Given the description of an element on the screen output the (x, y) to click on. 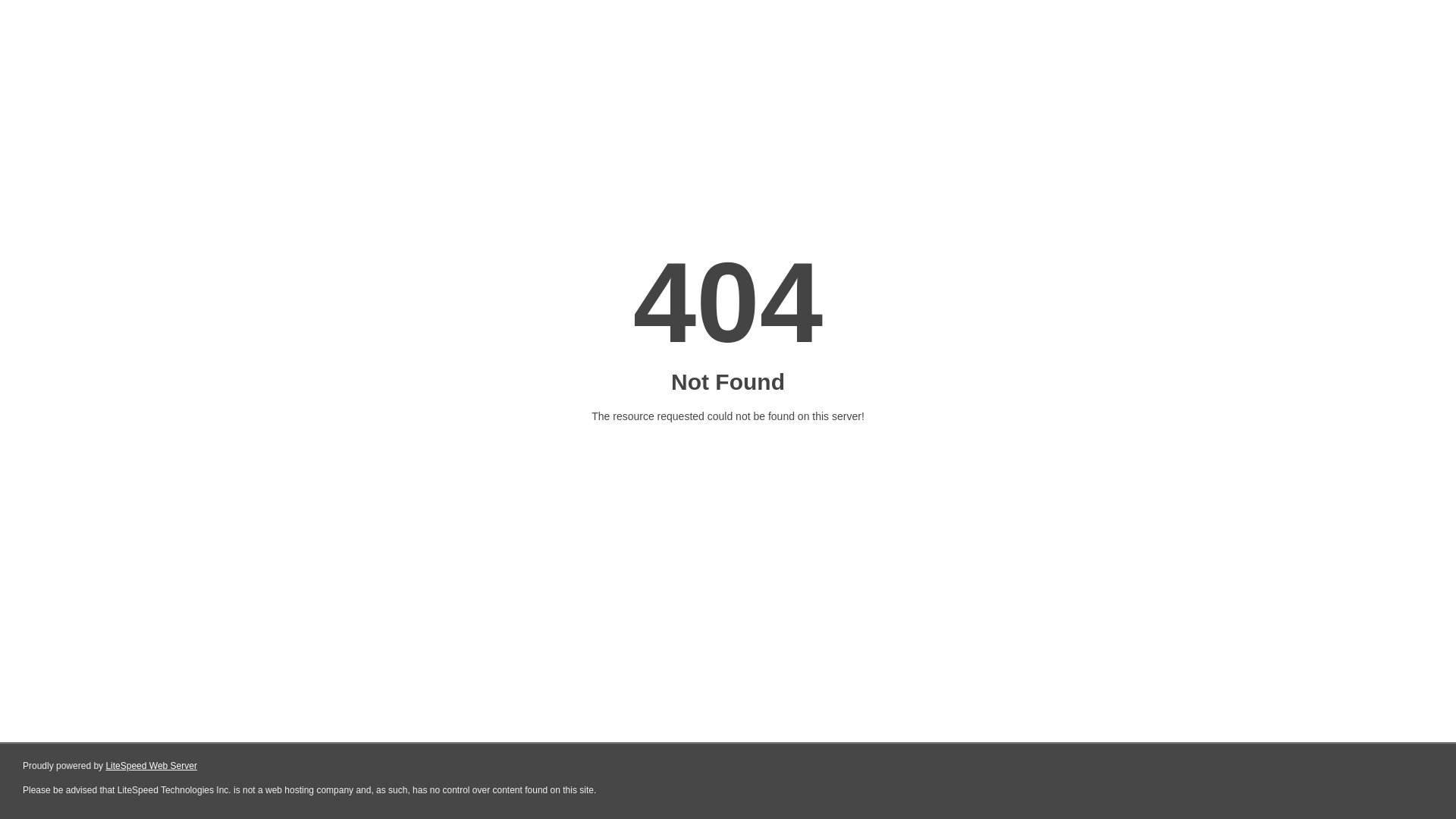
LiteSpeed Web Server Element type: text (151, 765)
